Given the description of an element on the screen output the (x, y) to click on. 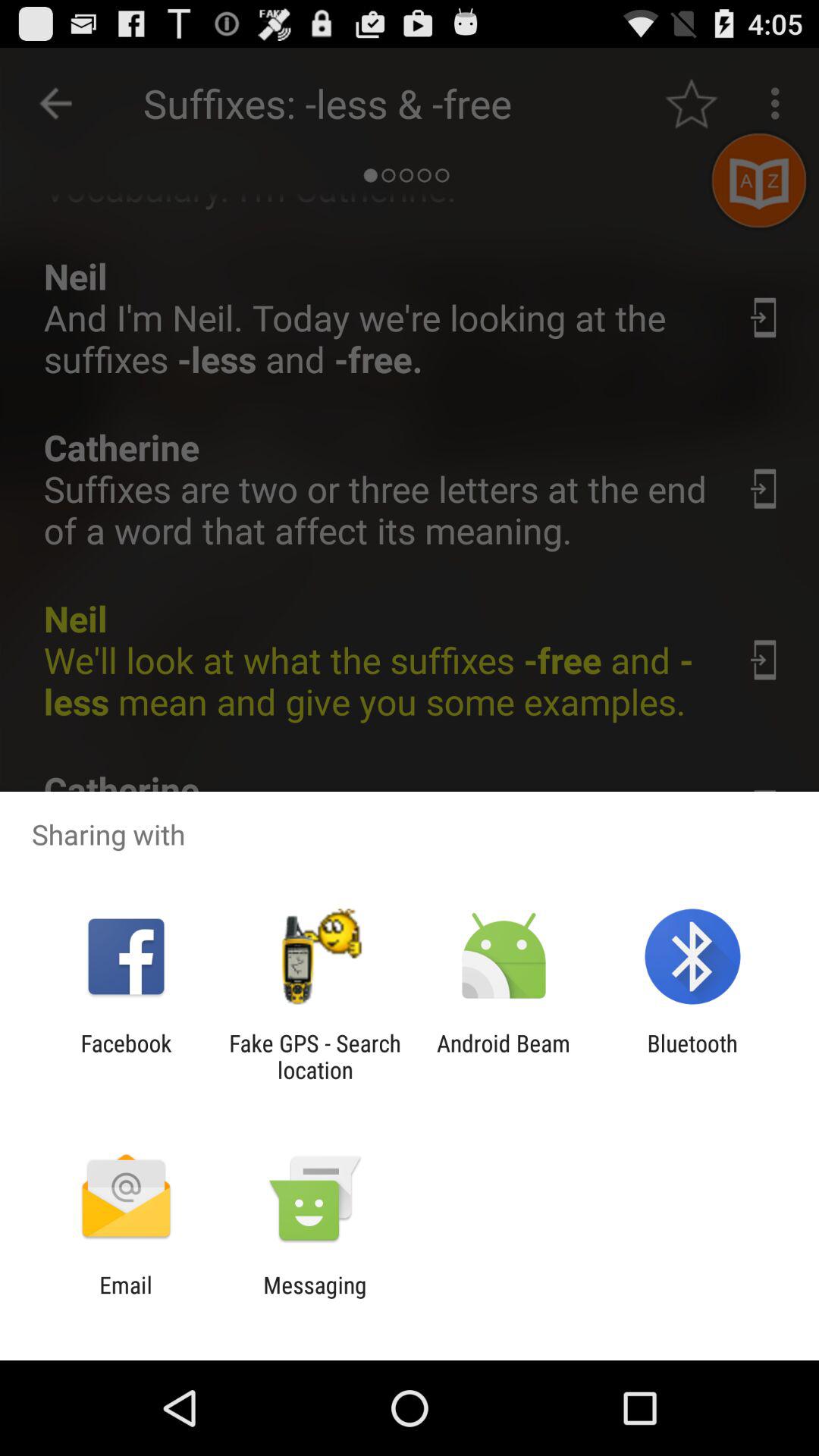
launch the item next to android beam icon (314, 1056)
